Given the description of an element on the screen output the (x, y) to click on. 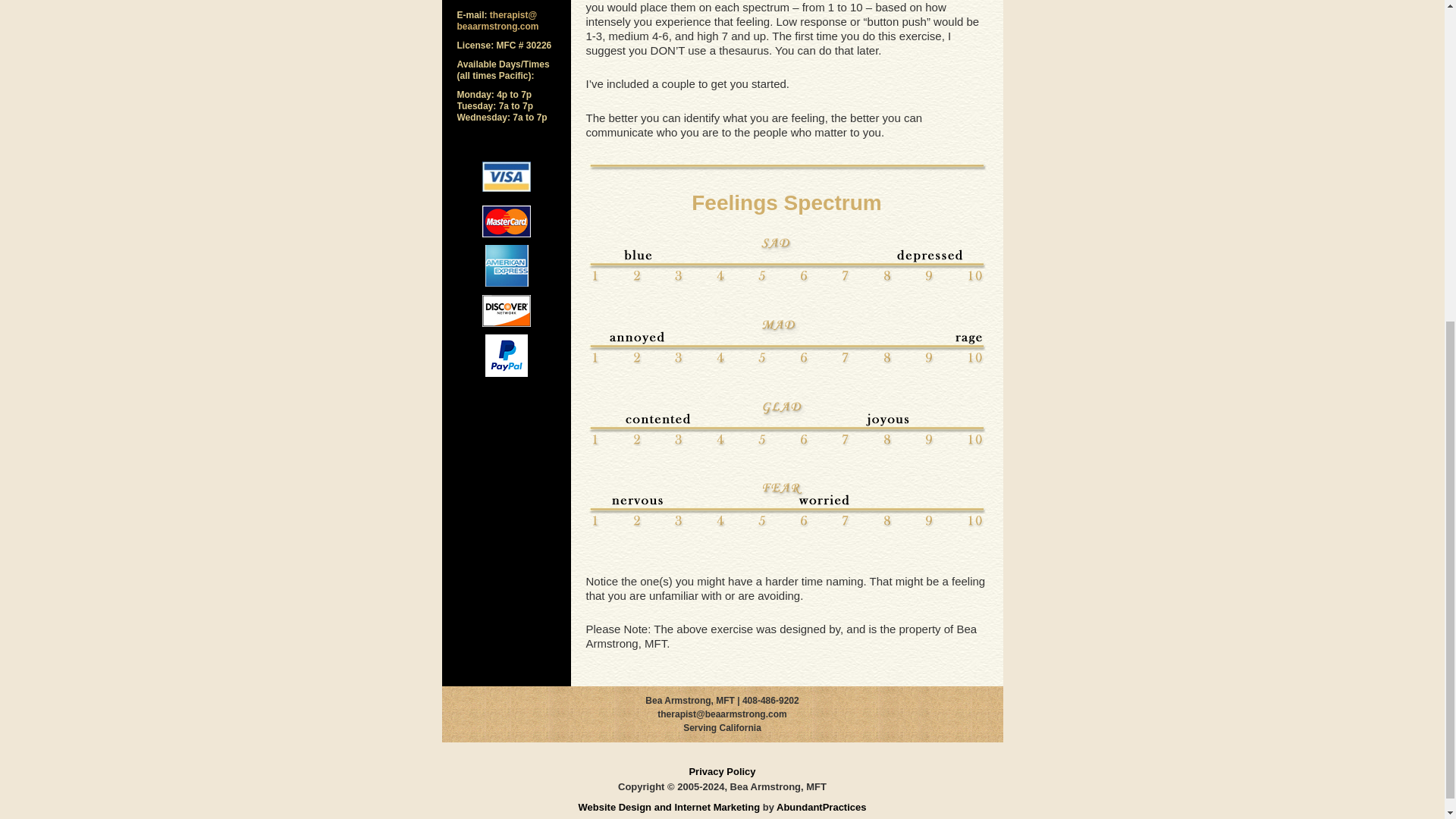
408-486-9202 (770, 700)
408-486-9202 (498, 0)
Privacy Policy (721, 771)
AbundantPractices (821, 807)
Website Design and Internet Marketing (669, 807)
